Given the description of an element on the screen output the (x, y) to click on. 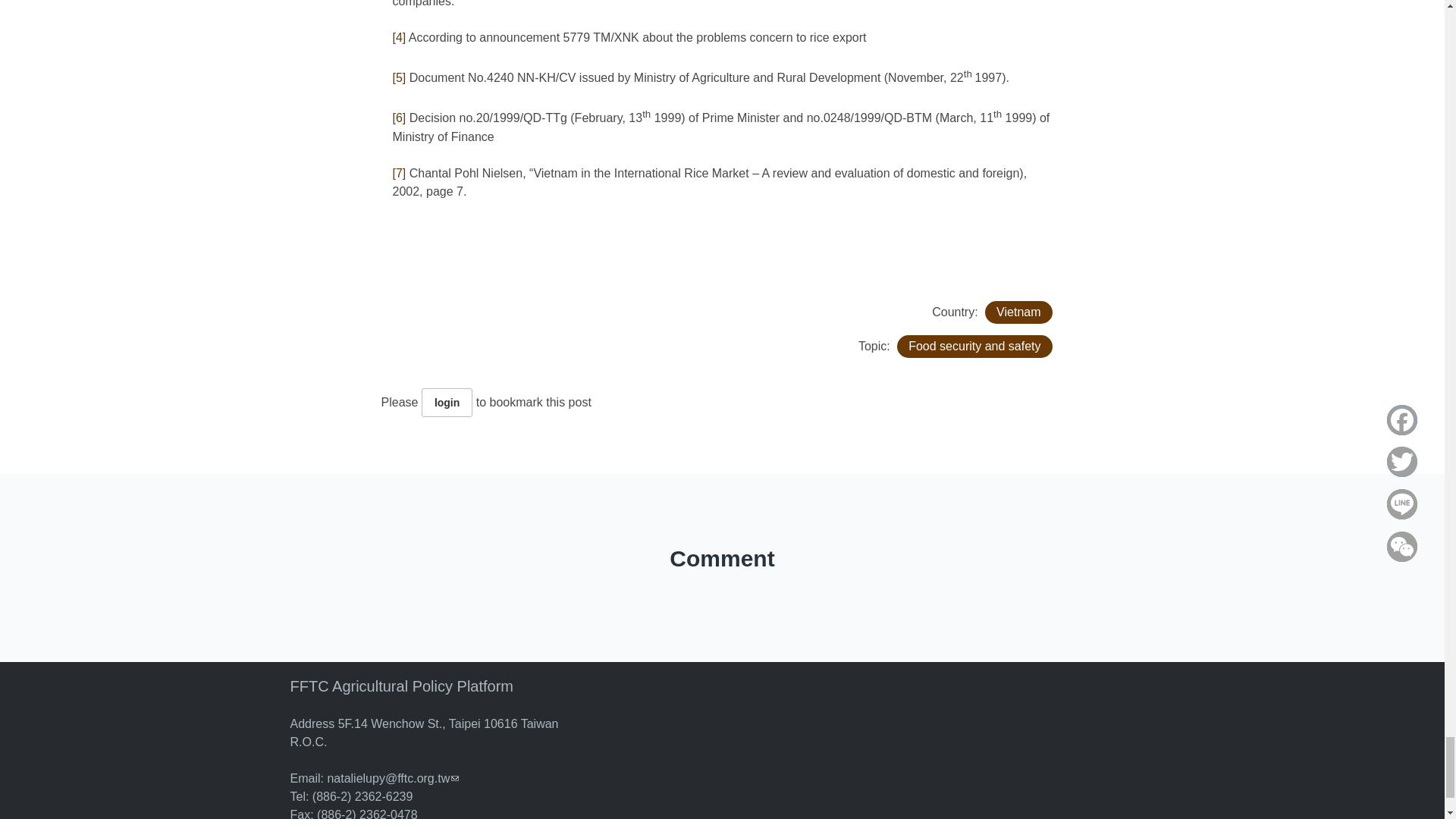
login (446, 402)
Food security and safety (973, 345)
Vietnam (1018, 312)
